Given the description of an element on the screen output the (x, y) to click on. 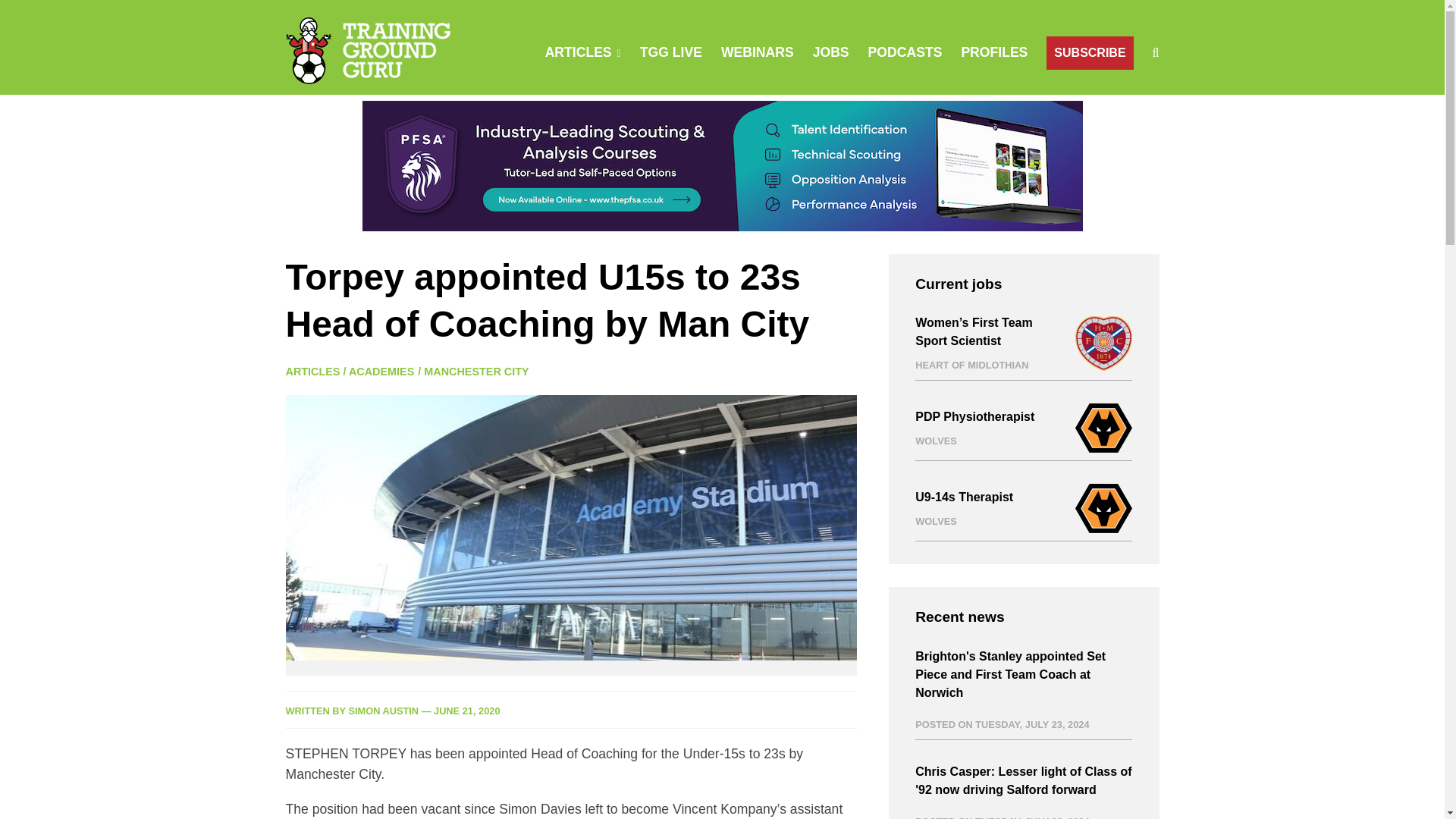
ARTICLES (312, 371)
TGG LIVE (670, 52)
TGG Live 2024 (670, 52)
ARTICLES (577, 52)
Submit a job (830, 52)
MANCHESTER CITY (475, 371)
Search (950, 123)
PROFILES (993, 52)
WEBINARS (756, 52)
Podcasts (904, 52)
Webinars (756, 52)
JOBS (830, 52)
ACADEMIES (381, 371)
PODCASTS (904, 52)
Profiles (993, 52)
